Given the description of an element on the screen output the (x, y) to click on. 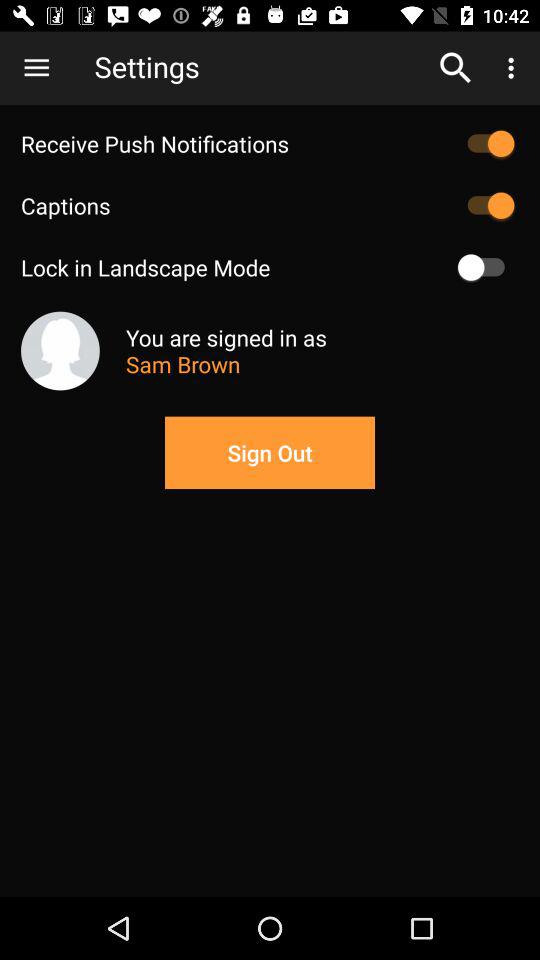
toggle on push notifications (486, 143)
